Given the description of an element on the screen output the (x, y) to click on. 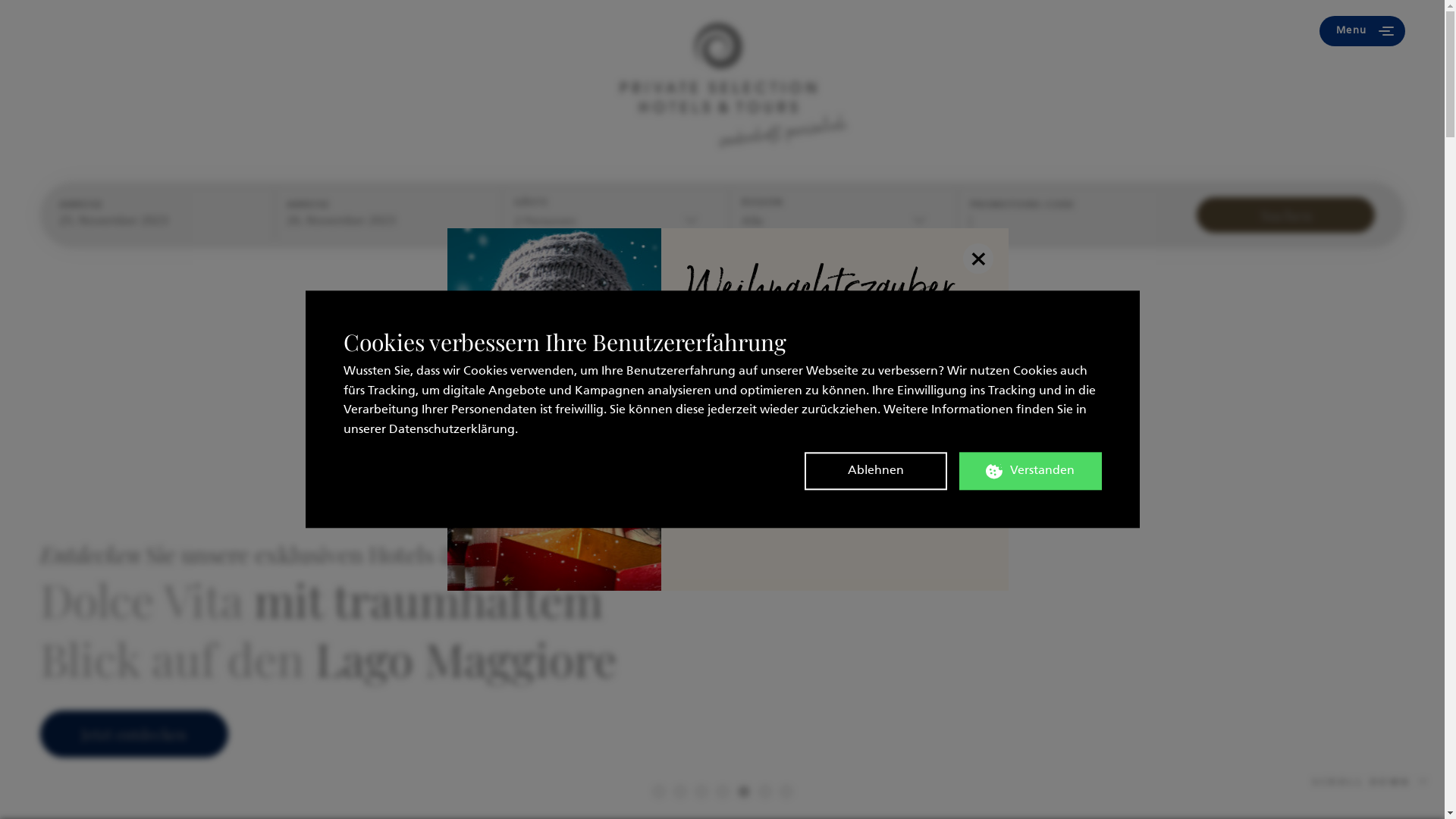
Gutscheine Element type: text (548, 30)
Verstanden Element type: text (1029, 471)
Menu Element type: text (1362, 30)
Jetzt entdecken Element type: text (133, 733)
Ihr Login Element type: text (1154, 30)
Suchen Element type: text (1285, 214)
SCROLL DOWN Element type: text (1371, 782)
Ablehnen Element type: text (874, 471)
zu den Gutscheinen Element type: text (834, 493)
Buchen Element type: text (316, 30)
Unsere Hotels
in Europa Element type: text (143, 30)
